Given the description of an element on the screen output the (x, y) to click on. 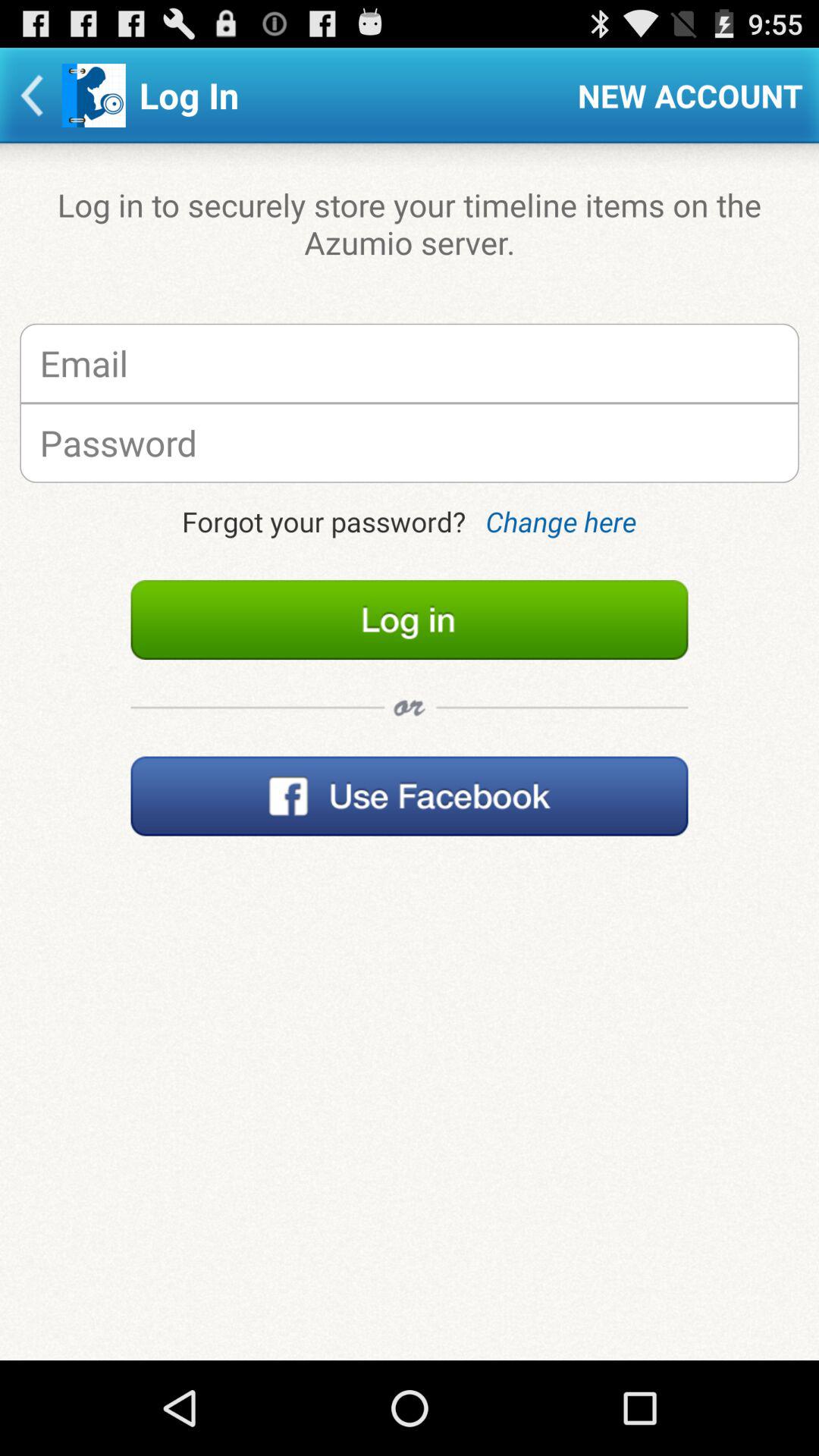
select the item at the top right corner (690, 95)
